Given the description of an element on the screen output the (x, y) to click on. 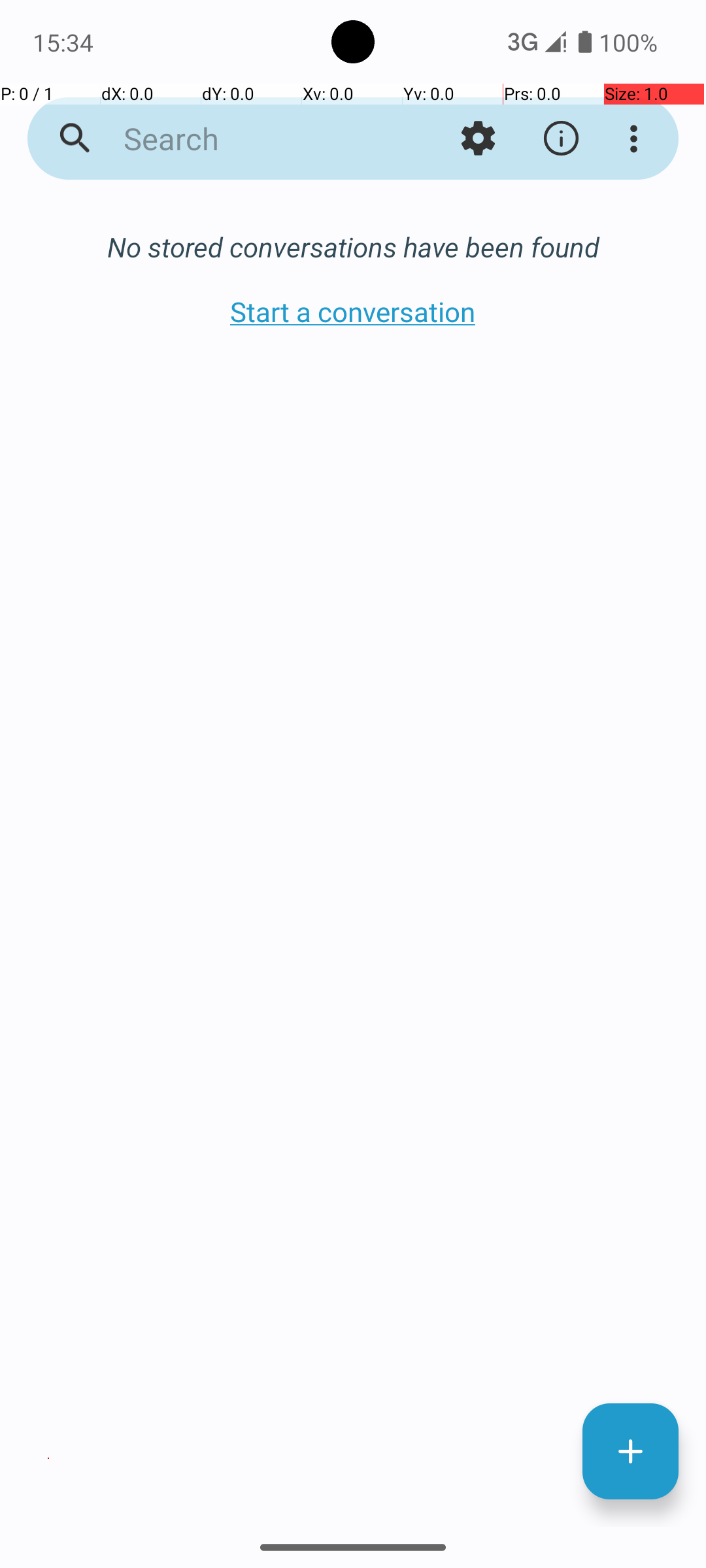
No stored conversations have been found Element type: android.widget.TextView (353, 246)
Start a conversation Element type: android.widget.TextView (352, 311)
